Given the description of an element on the screen output the (x, y) to click on. 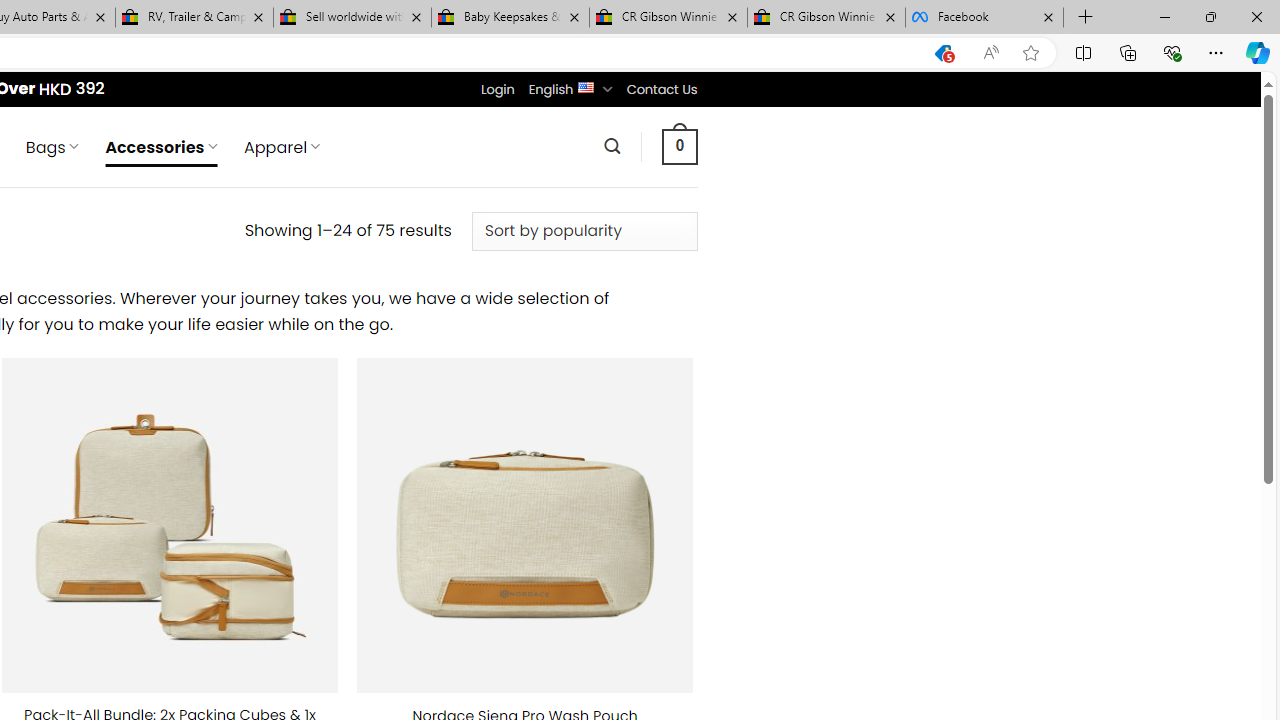
Shop order (584, 231)
